Given the description of an element on the screen output the (x, y) to click on. 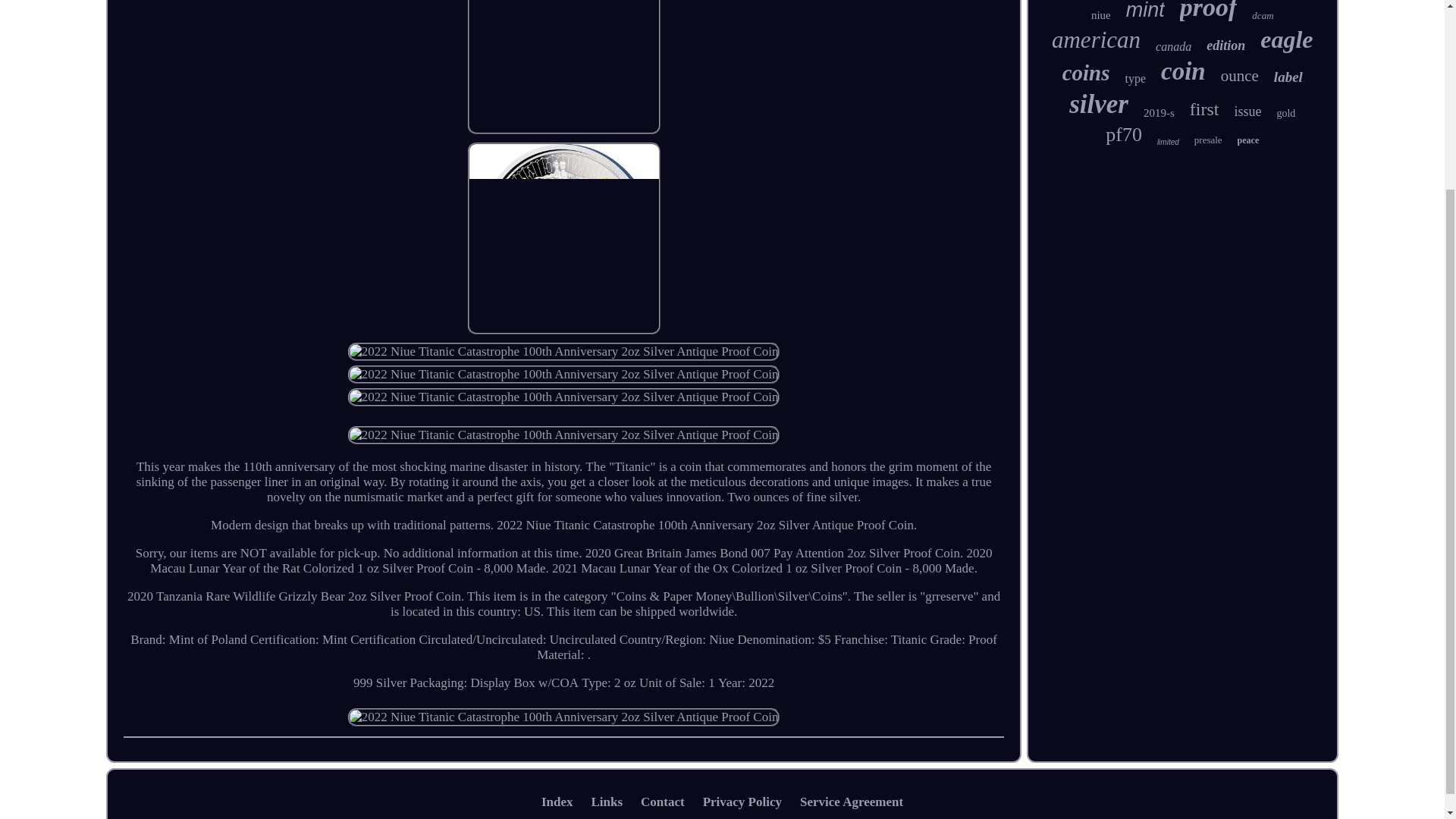
dcam (1262, 15)
coin (1182, 71)
proof (1208, 11)
coins (1085, 72)
label (1288, 76)
niue (1100, 15)
